Given the description of an element on the screen output the (x, y) to click on. 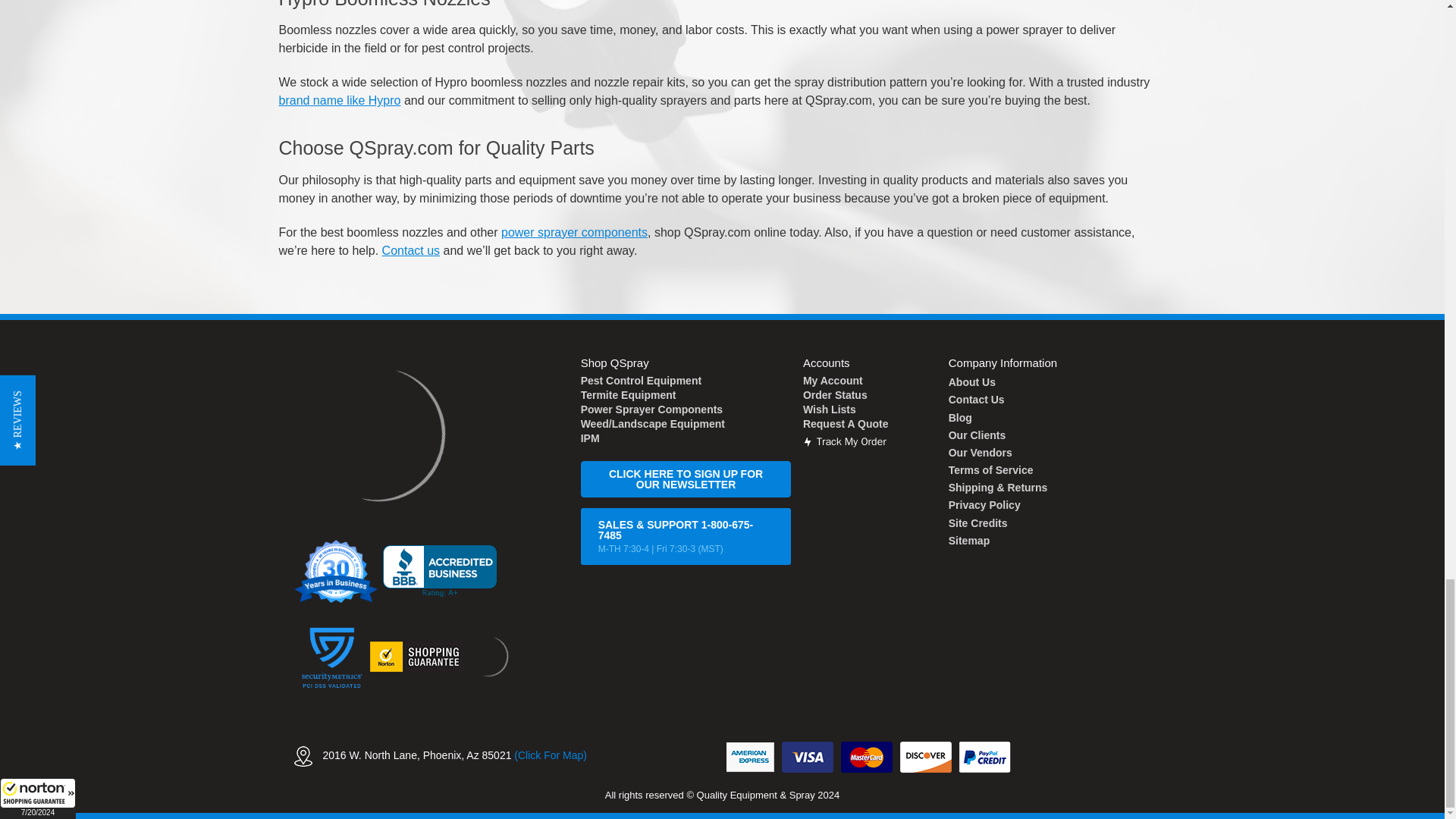
QSpray.com (377, 433)
